Given the description of an element on the screen output the (x, y) to click on. 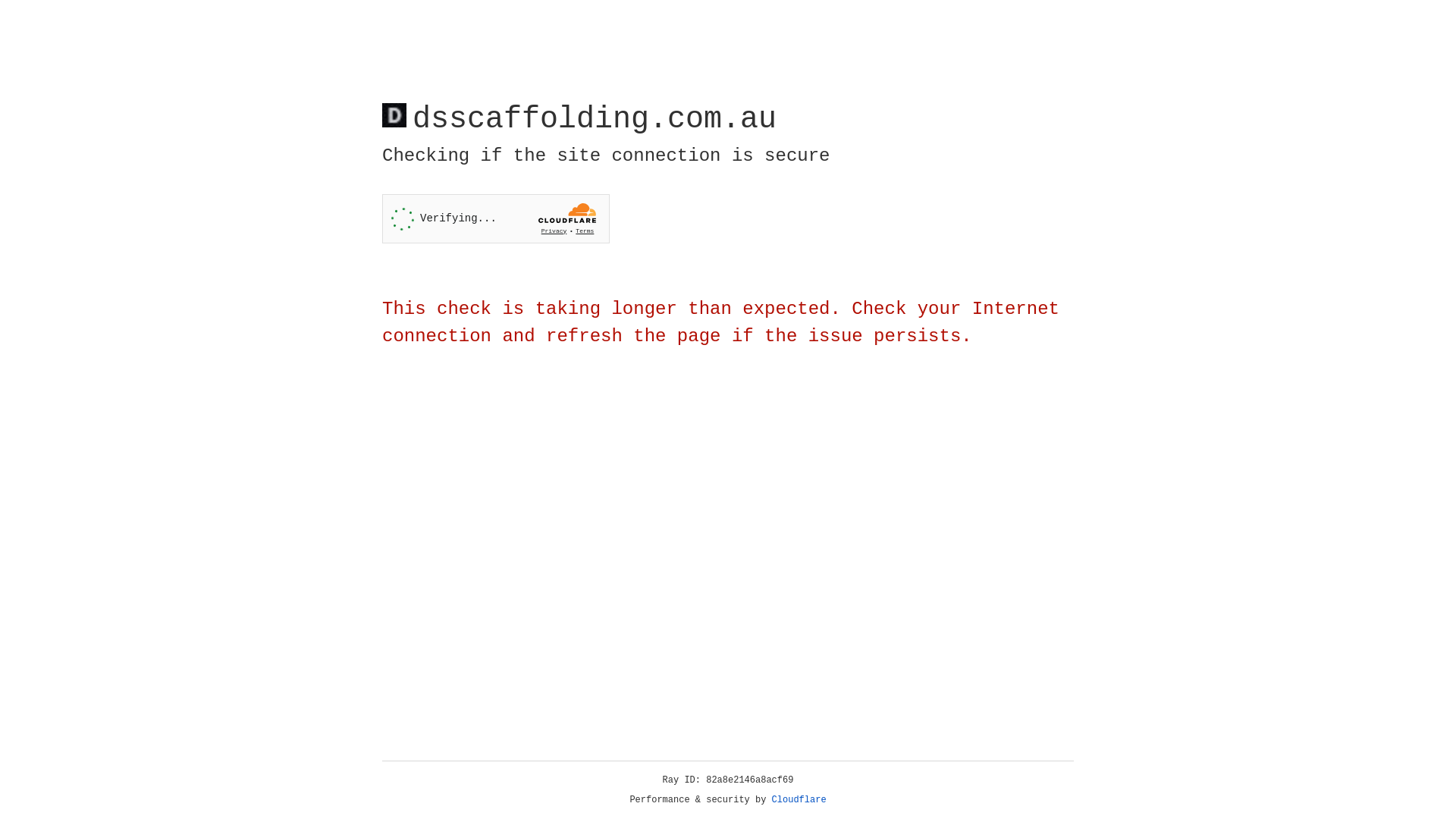
Widget containing a Cloudflare security challenge Element type: hover (495, 218)
Cloudflare Element type: text (798, 799)
